Given the description of an element on the screen output the (x, y) to click on. 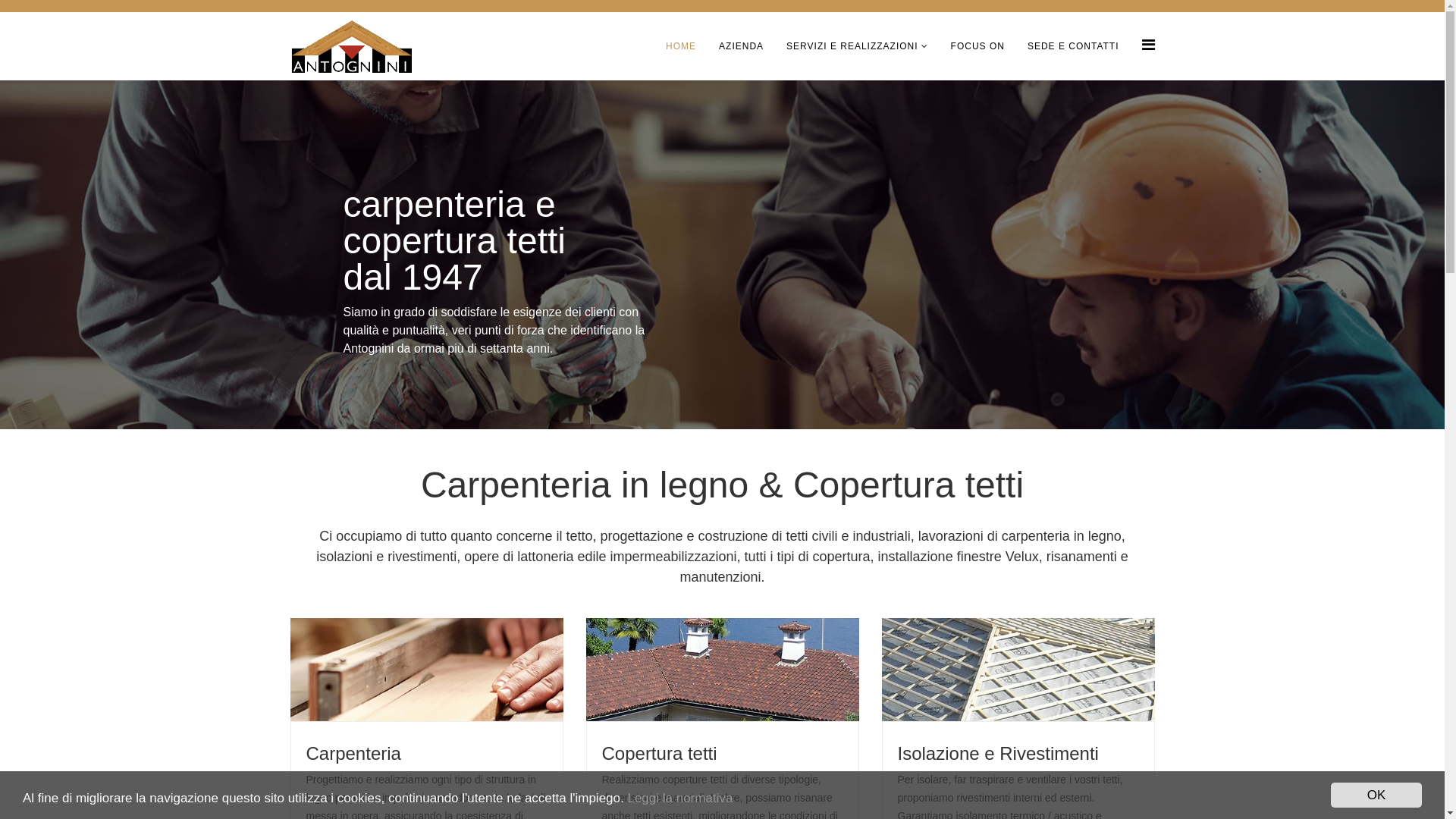
Leggi la normativa Element type: text (679, 797)
SEDE E CONTATTI Element type: text (1073, 46)
FOCUS ON Element type: text (977, 46)
OK Element type: text (1375, 794)
AZIENDA Element type: text (741, 46)
SERVIZI E REALIZZAZIONI Element type: text (856, 46)
HOME Element type: text (680, 46)
